Given the description of an element on the screen output the (x, y) to click on. 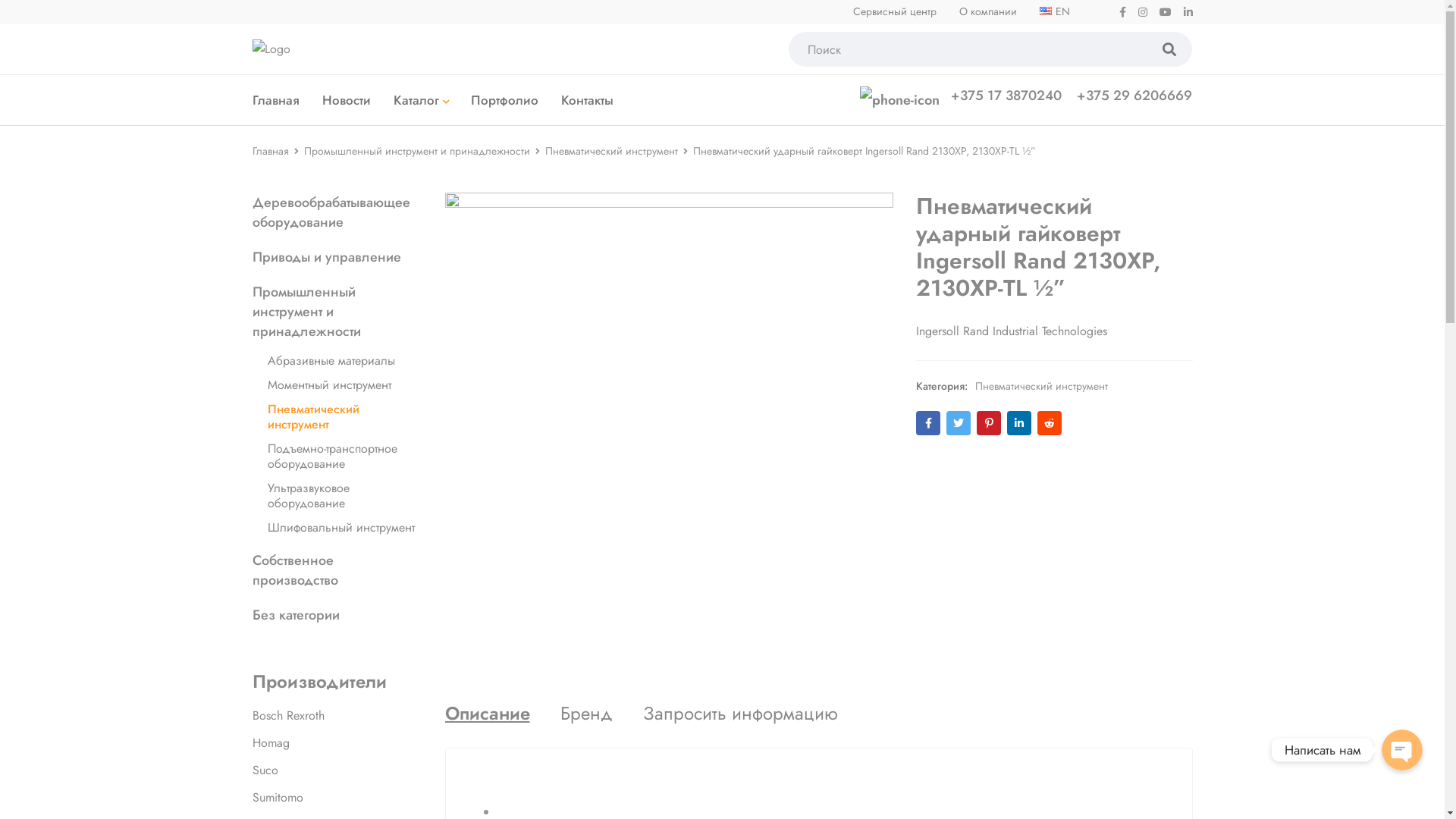
Homag Element type: text (269, 742)
Search Element type: text (22, 17)
Ingersoll Rand Industrial Technologies Element type: text (1011, 330)
Suco Element type: text (264, 769)
IR-2130XP-TL.jpg Element type: hover (668, 416)
Bosch Rexroth Element type: text (287, 715)
Sumitomo Element type: text (276, 797)
